Given the description of an element on the screen output the (x, y) to click on. 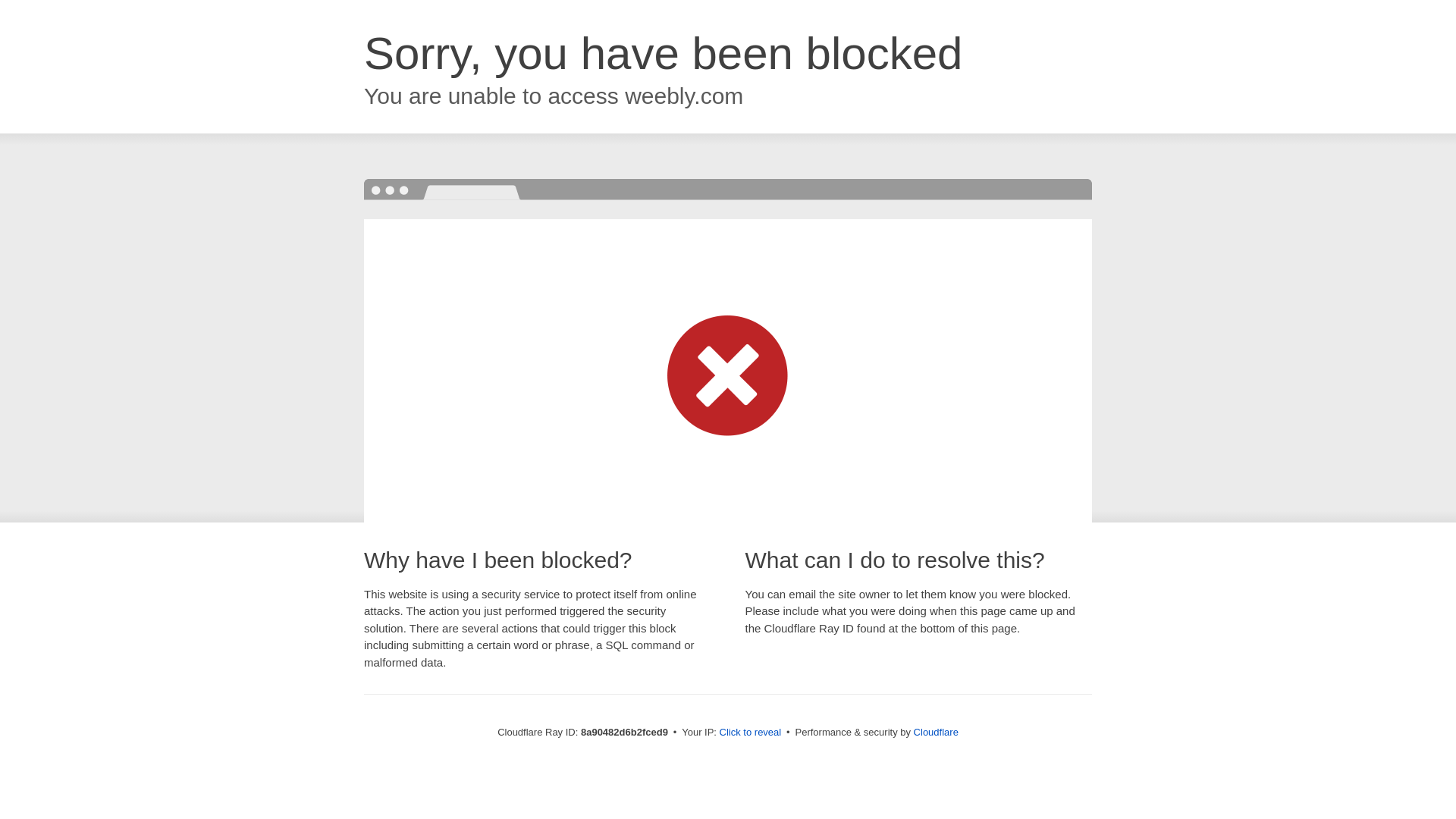
Click to reveal (750, 732)
Cloudflare (936, 731)
